Given the description of an element on the screen output the (x, y) to click on. 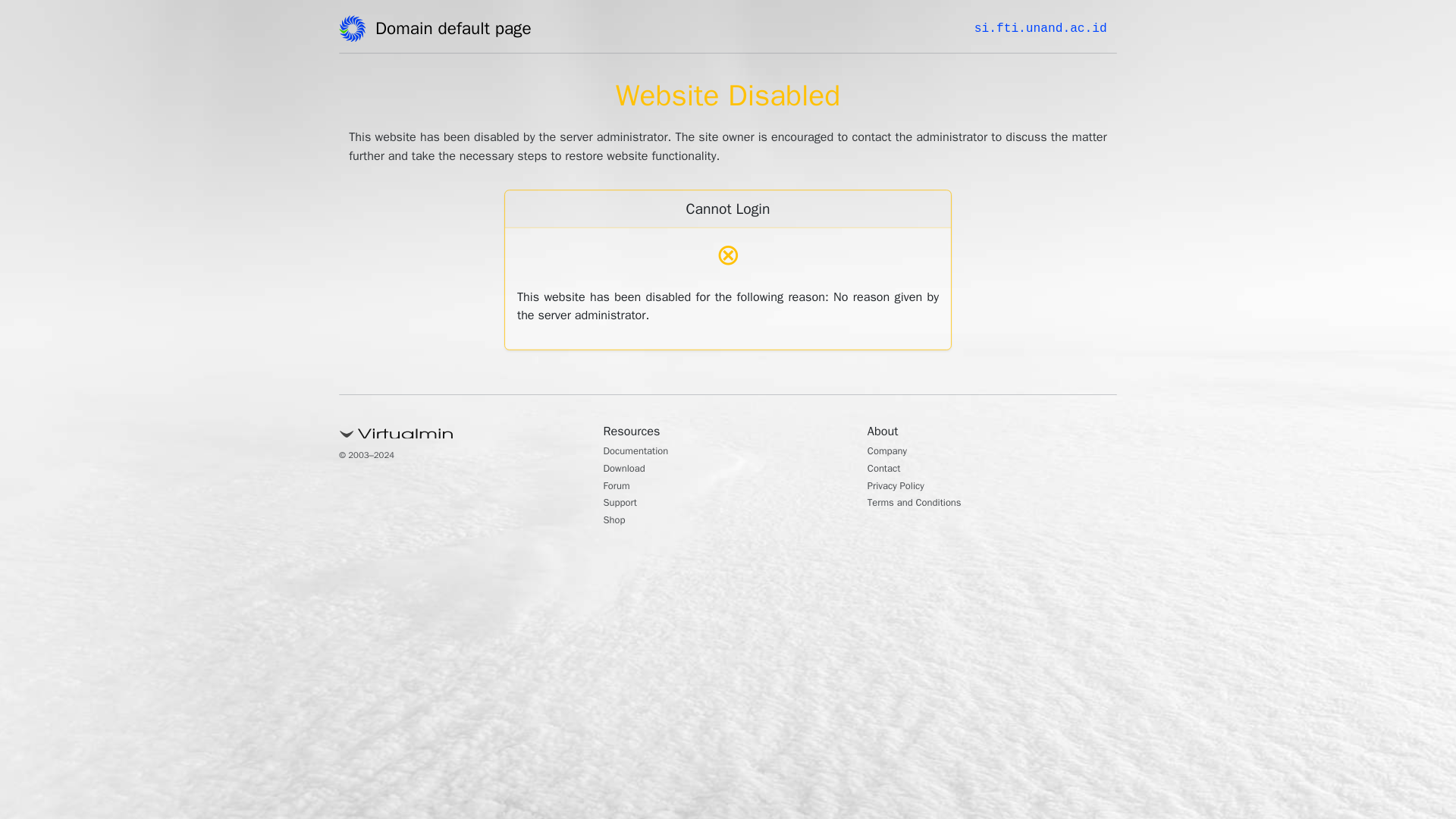
Contact (887, 469)
Terms and Conditions (925, 503)
Forum (620, 487)
Download (629, 469)
Shop (617, 521)
Documentation (644, 452)
Support (624, 503)
Company (891, 452)
Domain default page (457, 31)
Privacy Policy (902, 487)
